Given the description of an element on the screen output the (x, y) to click on. 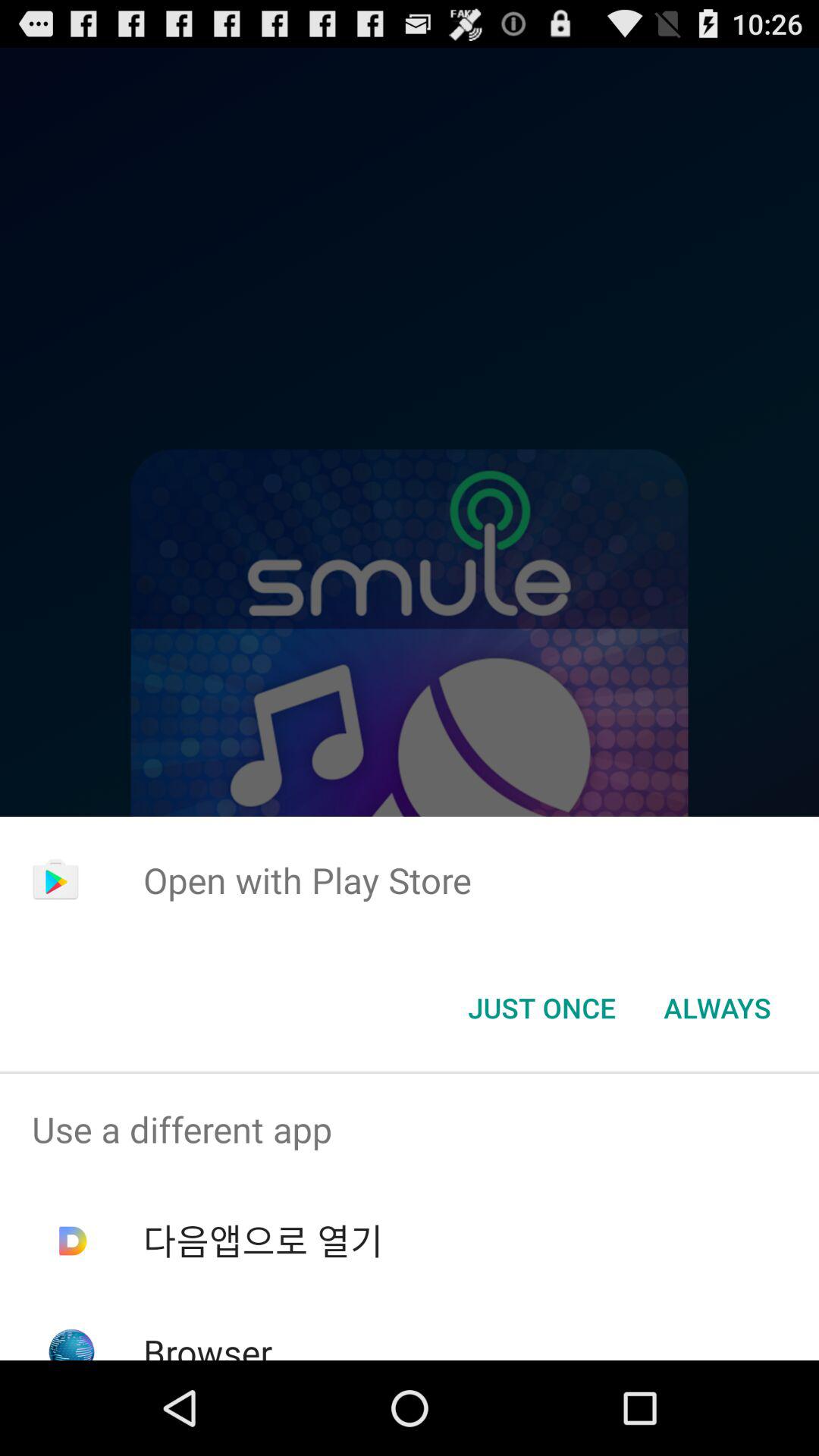
open icon to the left of always icon (541, 1007)
